Given the description of an element on the screen output the (x, y) to click on. 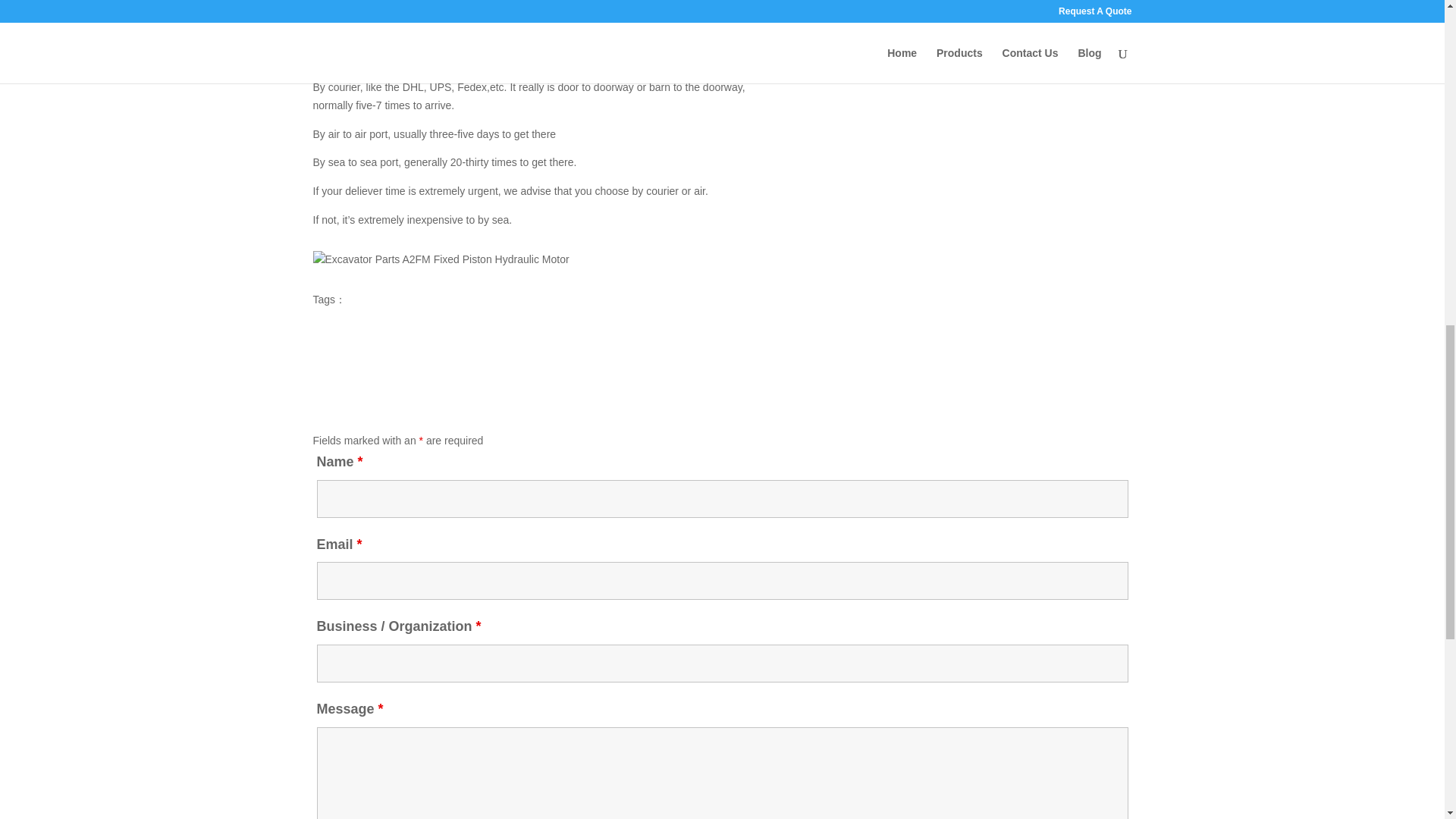
Excavator Parts A2FM Fixed Piston Hydraulic Motor (441, 259)
